Given the description of an element on the screen output the (x, y) to click on. 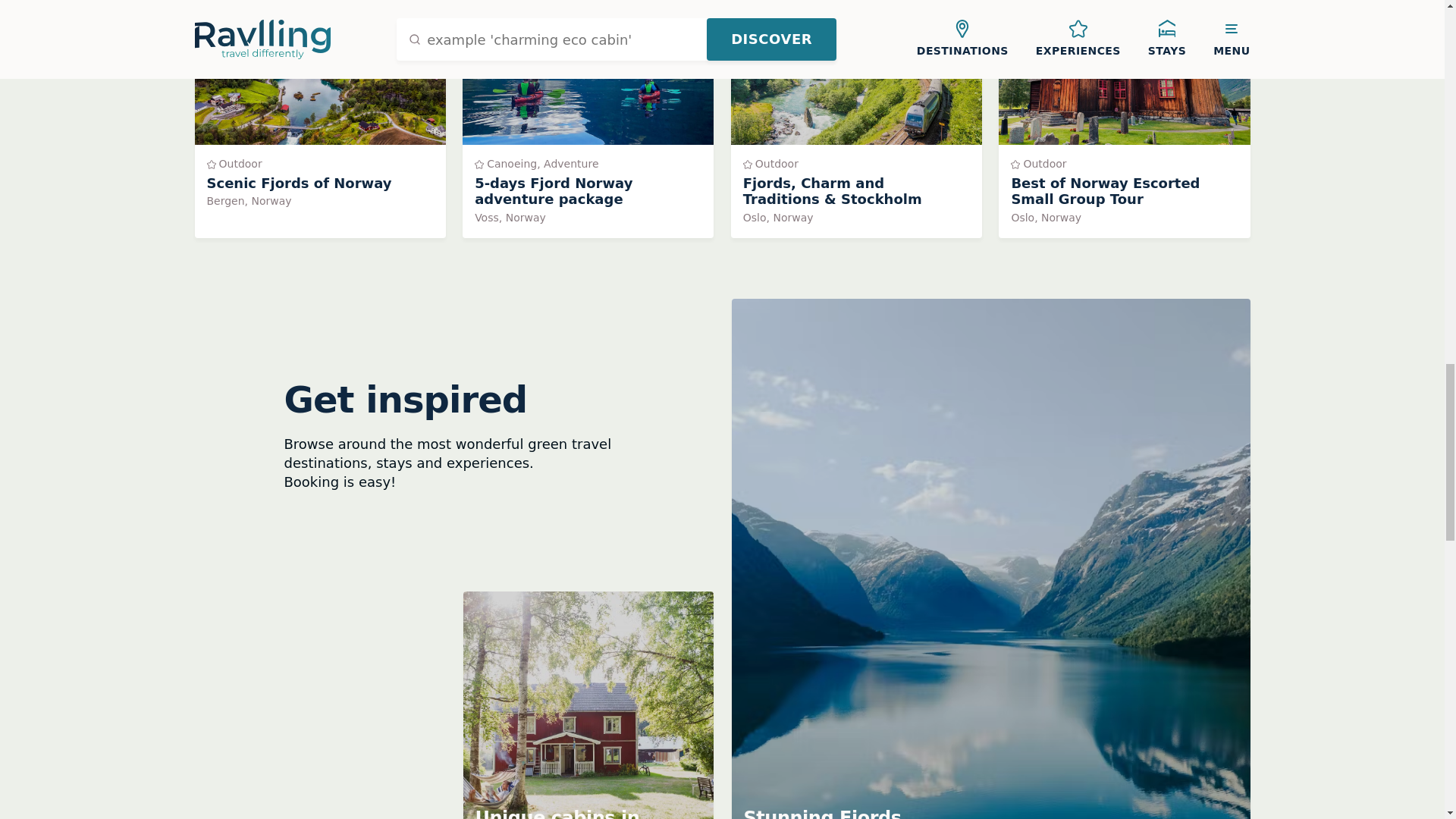
Scenic Fjords of Norway (319, 118)
Stunning Fjords of Norway (319, 118)
 Best of Norway Escorted Small Group Tour (588, 118)
Unique cabins in outdoor Sweden (1123, 118)
